Given the description of an element on the screen output the (x, y) to click on. 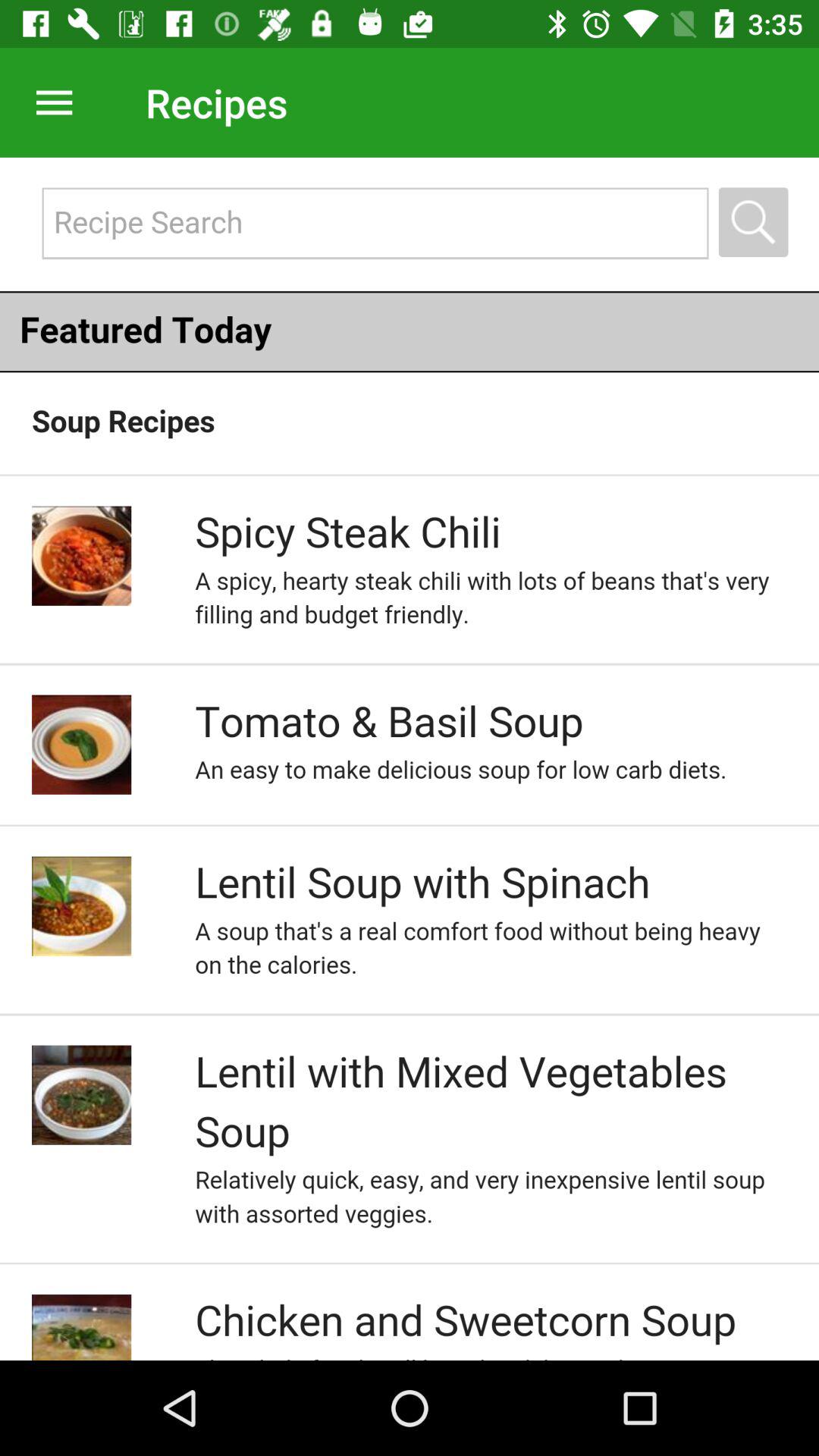
my file seen (48, 102)
